Given the description of an element on the screen output the (x, y) to click on. 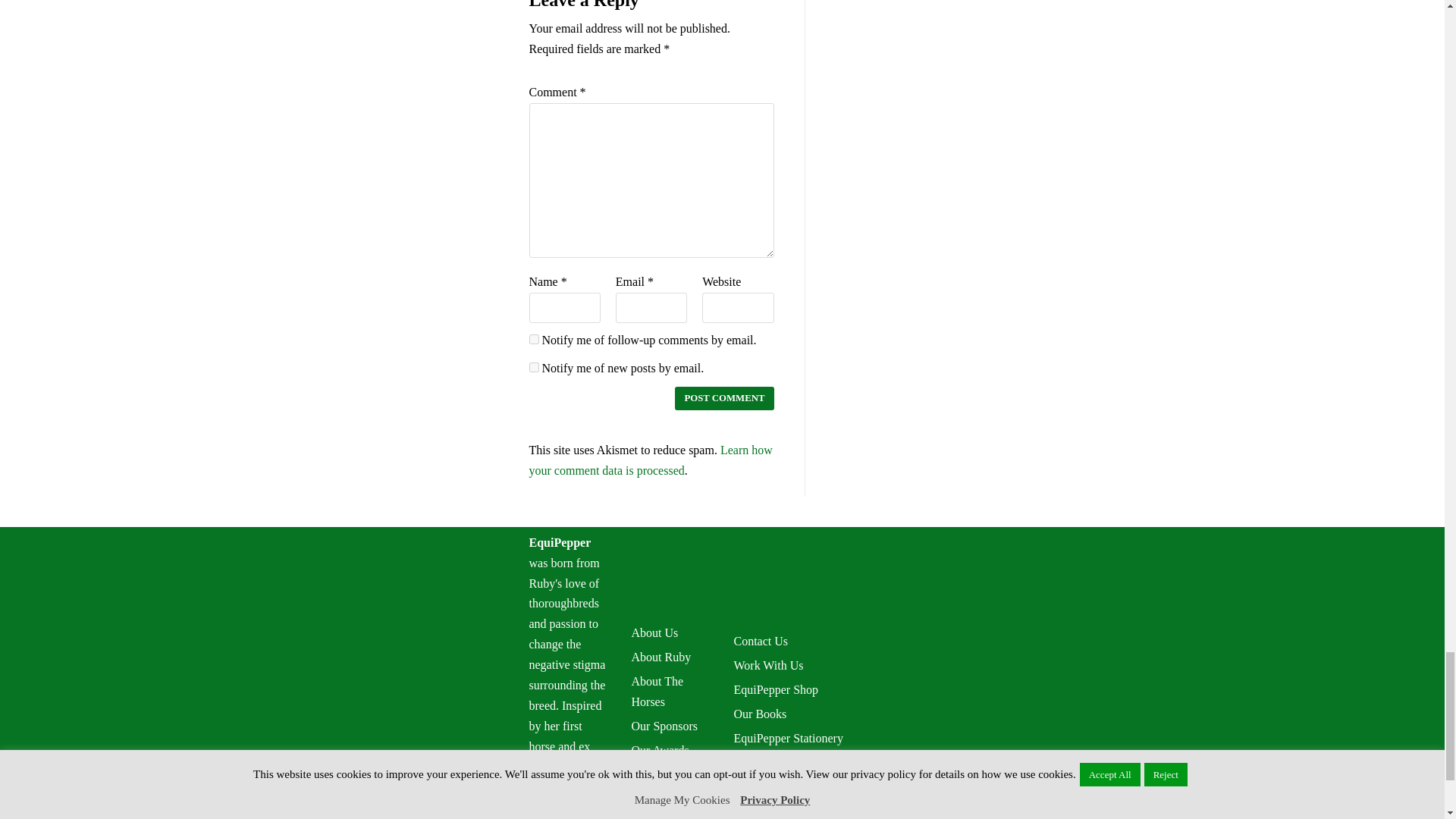
subscribe (533, 367)
subscribe (533, 338)
Post Comment (724, 398)
